Given the description of an element on the screen output the (x, y) to click on. 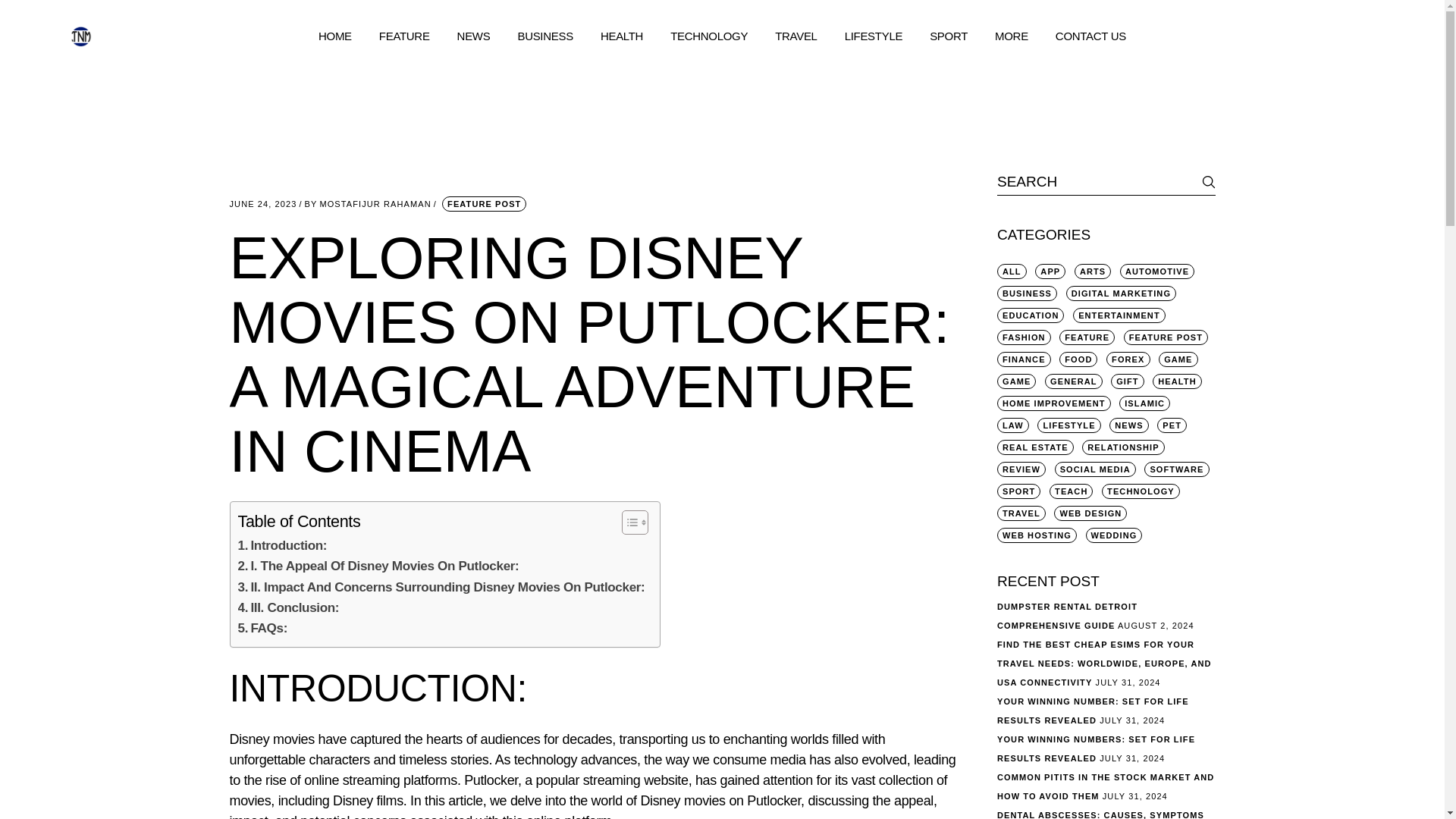
FAQs: (263, 628)
III. Conclusion: (288, 607)
Introduction: (282, 545)
I. The Appeal Of Disney Movies On Putlocker: (378, 566)
CONTACT US (1090, 36)
TECHNOLOGY (708, 36)
